Given the description of an element on the screen output the (x, y) to click on. 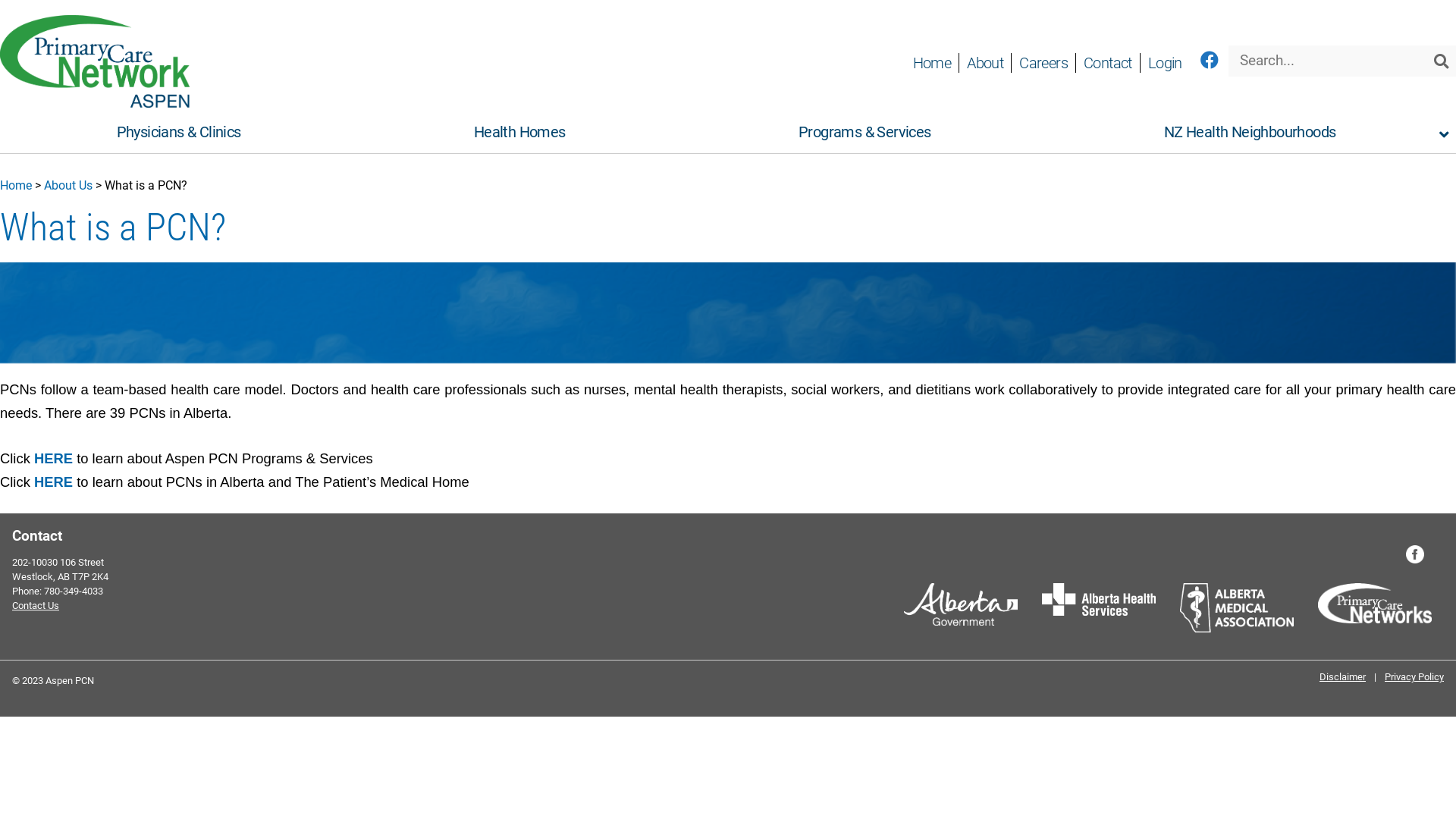
Facebook Element type: hover (1208, 60)
Programs & Services Element type: text (864, 131)
Contact Element type: text (1107, 62)
About Element type: text (984, 62)
Login Element type: text (1164, 62)
Physicians & Clinics Element type: text (178, 131)
HERE Element type: text (53, 458)
HERE Element type: text (53, 481)
Contact Us Element type: text (35, 605)
Home Element type: text (932, 62)
About Us Element type: text (67, 185)
Aspen PCN Element type: hover (94, 103)
Facebook Element type: text (1414, 554)
Disclaimer Element type: text (1345, 676)
Search Element type: hover (1440, 60)
Privacy Policy Element type: text (1410, 676)
Health Homes Element type: text (519, 131)
Careers Element type: text (1042, 62)
Home Element type: text (15, 185)
